Given the description of an element on the screen output the (x, y) to click on. 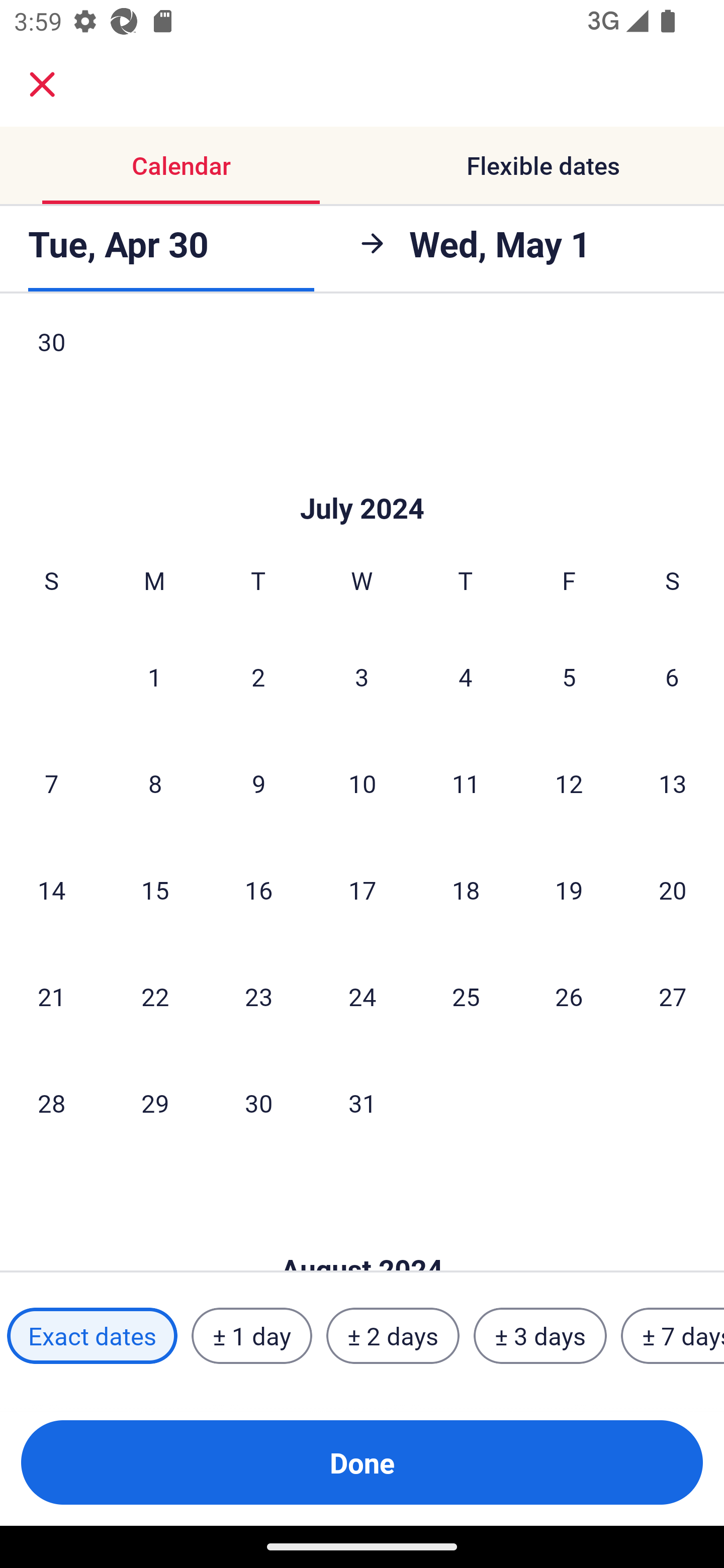
close. (42, 84)
Flexible dates (542, 164)
30 Sunday, June 30, 2024 (51, 357)
Skip to Done (362, 477)
1 Monday, July 1, 2024 (154, 676)
2 Tuesday, July 2, 2024 (257, 676)
3 Wednesday, July 3, 2024 (361, 676)
4 Thursday, July 4, 2024 (465, 676)
5 Friday, July 5, 2024 (568, 676)
6 Saturday, July 6, 2024 (672, 676)
7 Sunday, July 7, 2024 (51, 783)
8 Monday, July 8, 2024 (155, 783)
9 Tuesday, July 9, 2024 (258, 783)
10 Wednesday, July 10, 2024 (362, 783)
11 Thursday, July 11, 2024 (465, 783)
12 Friday, July 12, 2024 (569, 783)
13 Saturday, July 13, 2024 (672, 783)
14 Sunday, July 14, 2024 (51, 889)
15 Monday, July 15, 2024 (155, 889)
16 Tuesday, July 16, 2024 (258, 889)
17 Wednesday, July 17, 2024 (362, 889)
18 Thursday, July 18, 2024 (465, 889)
19 Friday, July 19, 2024 (569, 889)
20 Saturday, July 20, 2024 (672, 889)
21 Sunday, July 21, 2024 (51, 996)
22 Monday, July 22, 2024 (155, 996)
23 Tuesday, July 23, 2024 (258, 996)
24 Wednesday, July 24, 2024 (362, 996)
25 Thursday, July 25, 2024 (465, 996)
26 Friday, July 26, 2024 (569, 996)
27 Saturday, July 27, 2024 (672, 996)
28 Sunday, July 28, 2024 (51, 1103)
29 Monday, July 29, 2024 (155, 1103)
30 Tuesday, July 30, 2024 (258, 1103)
31 Wednesday, July 31, 2024 (362, 1103)
Exact dates (92, 1335)
± 1 day (251, 1335)
± 2 days (392, 1335)
± 3 days (539, 1335)
± 7 days (672, 1335)
Done (361, 1462)
